Given the description of an element on the screen output the (x, y) to click on. 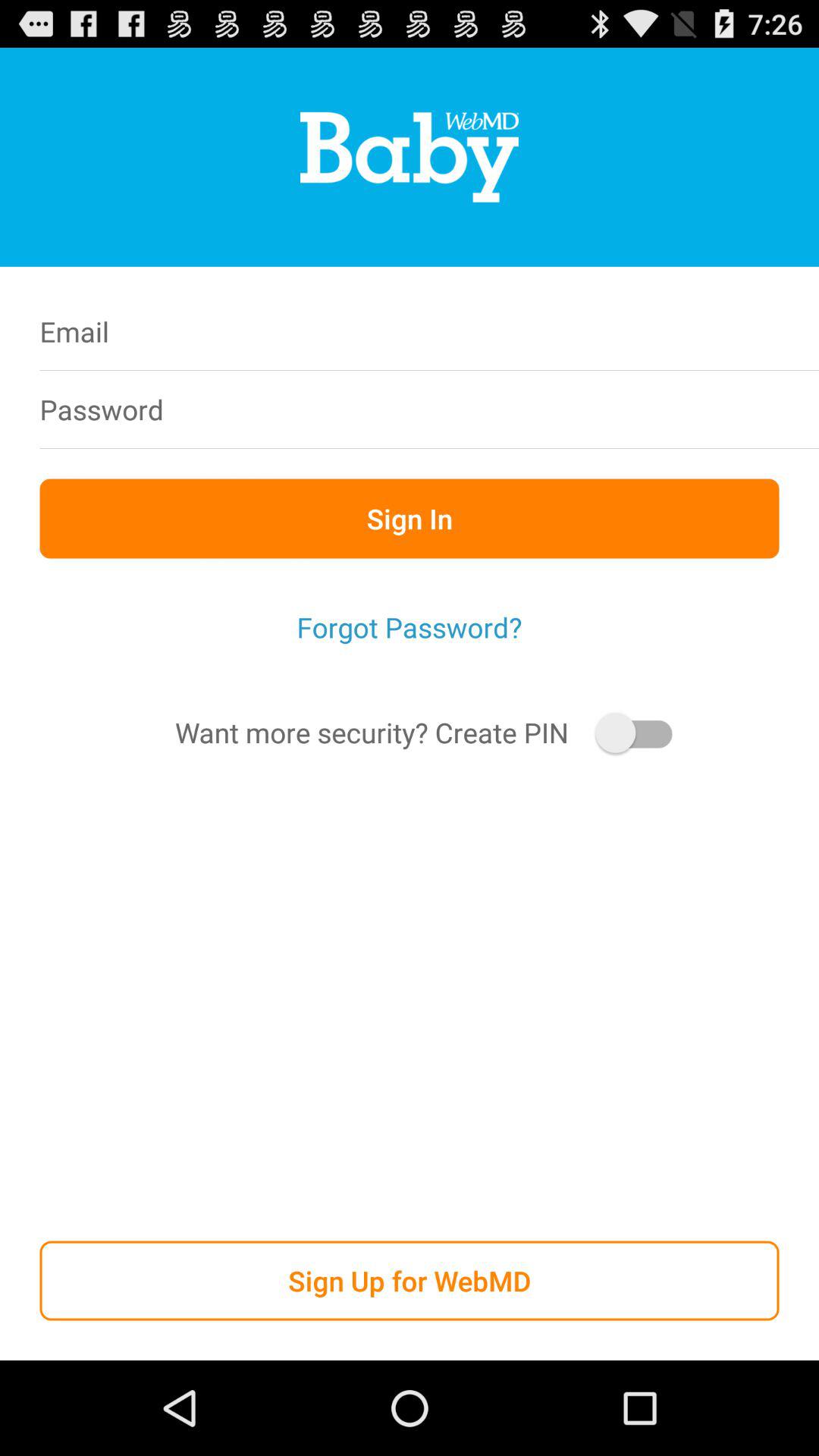
choose the item next to the password item (507, 409)
